Given the description of an element on the screen output the (x, y) to click on. 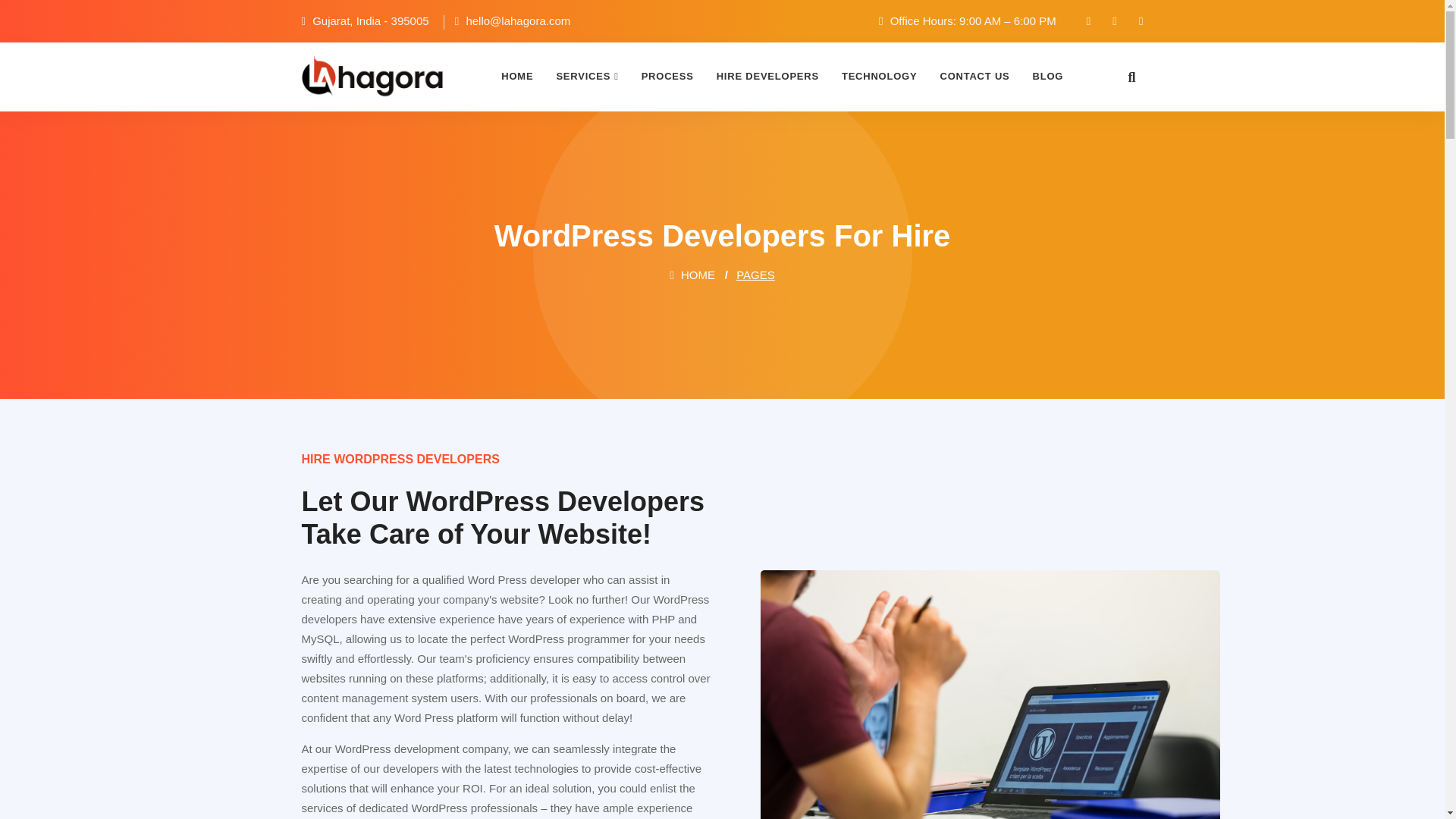
PROCESS (667, 76)
HIRE DEVELOPERS (766, 76)
Services (586, 76)
Process (667, 76)
Contact Us (974, 76)
Technology (878, 76)
SERVICES (586, 76)
